Given the description of an element on the screen output the (x, y) to click on. 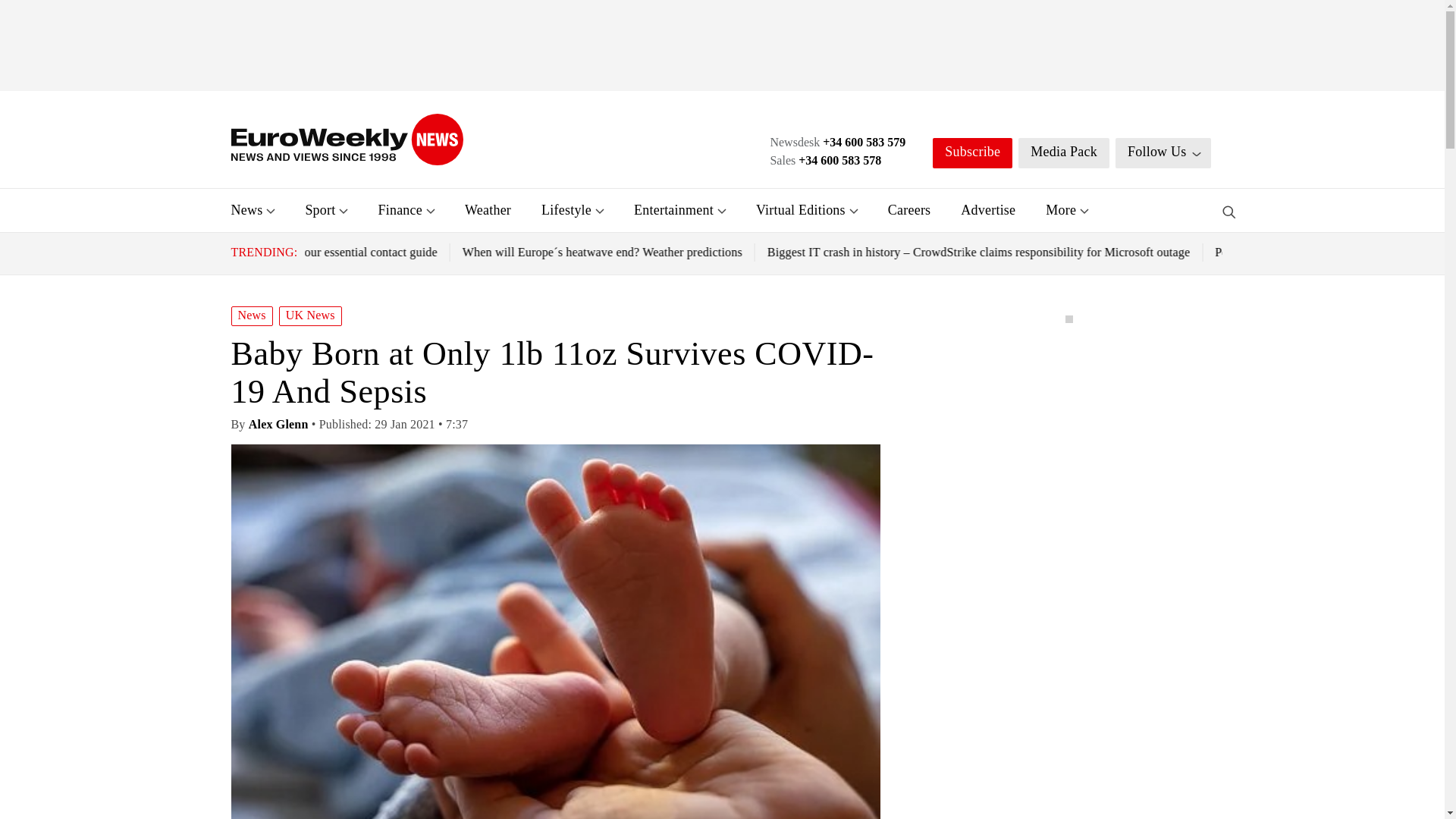
News (246, 209)
Media Pack (1063, 153)
Subscribe (972, 153)
Follow Us (1163, 153)
